Given the description of an element on the screen output the (x, y) to click on. 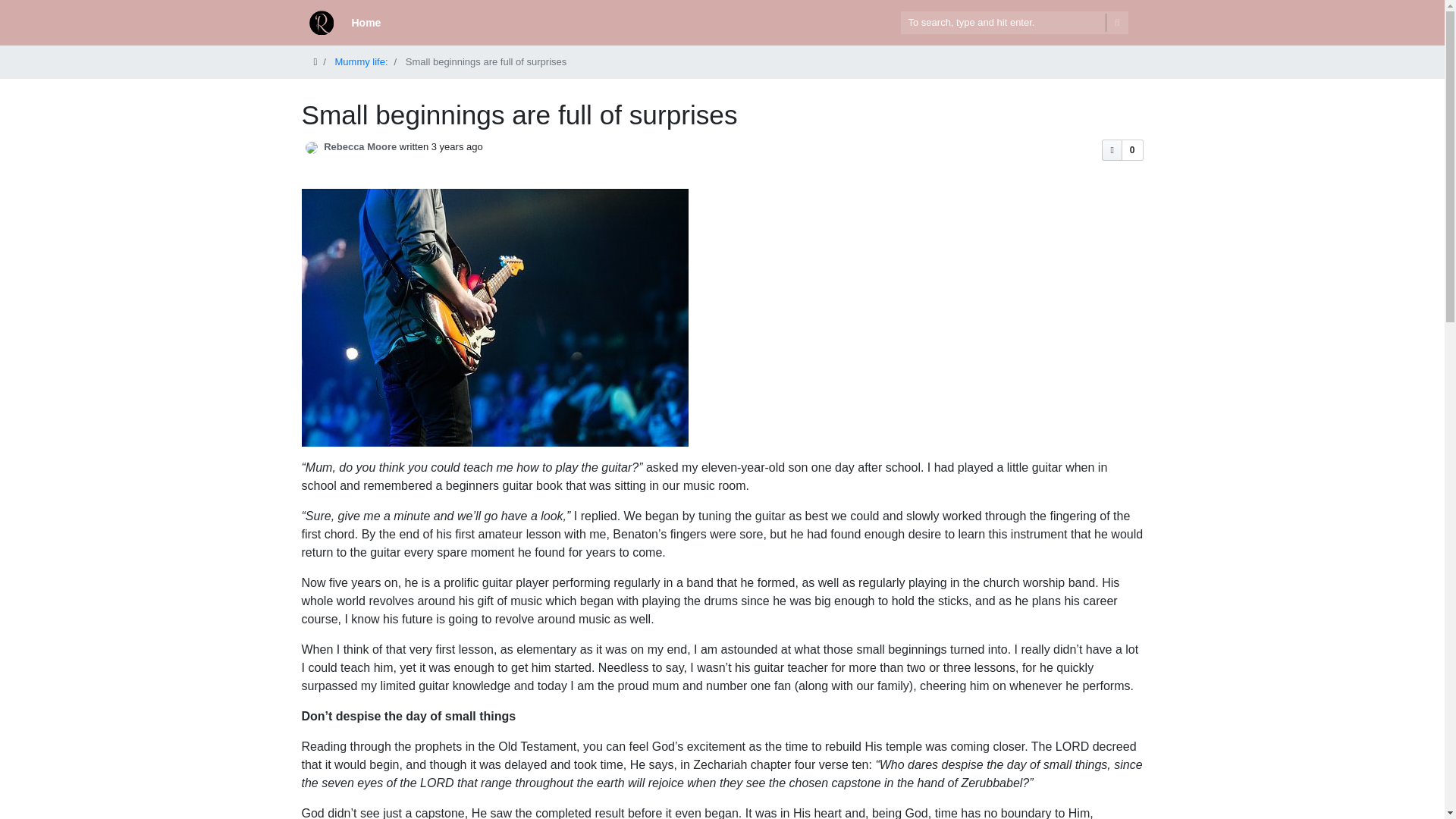
Mummy life: (361, 61)
Home (366, 22)
0 (1122, 149)
Rebecca Moore (359, 146)
